Given the description of an element on the screen output the (x, y) to click on. 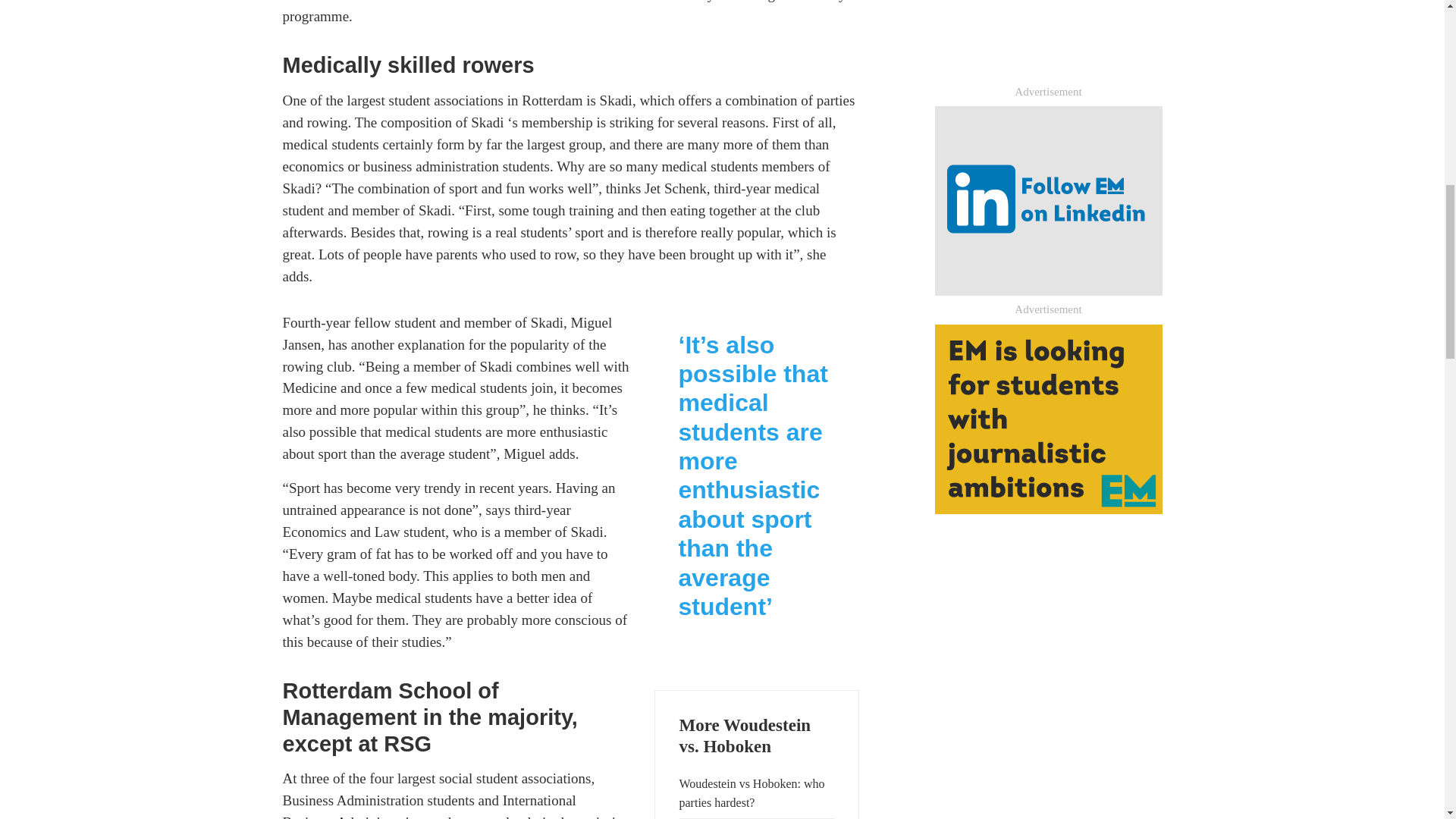
Woudestein vs Hoboken: who parties hardest? (756, 793)
